Given the description of an element on the screen output the (x, y) to click on. 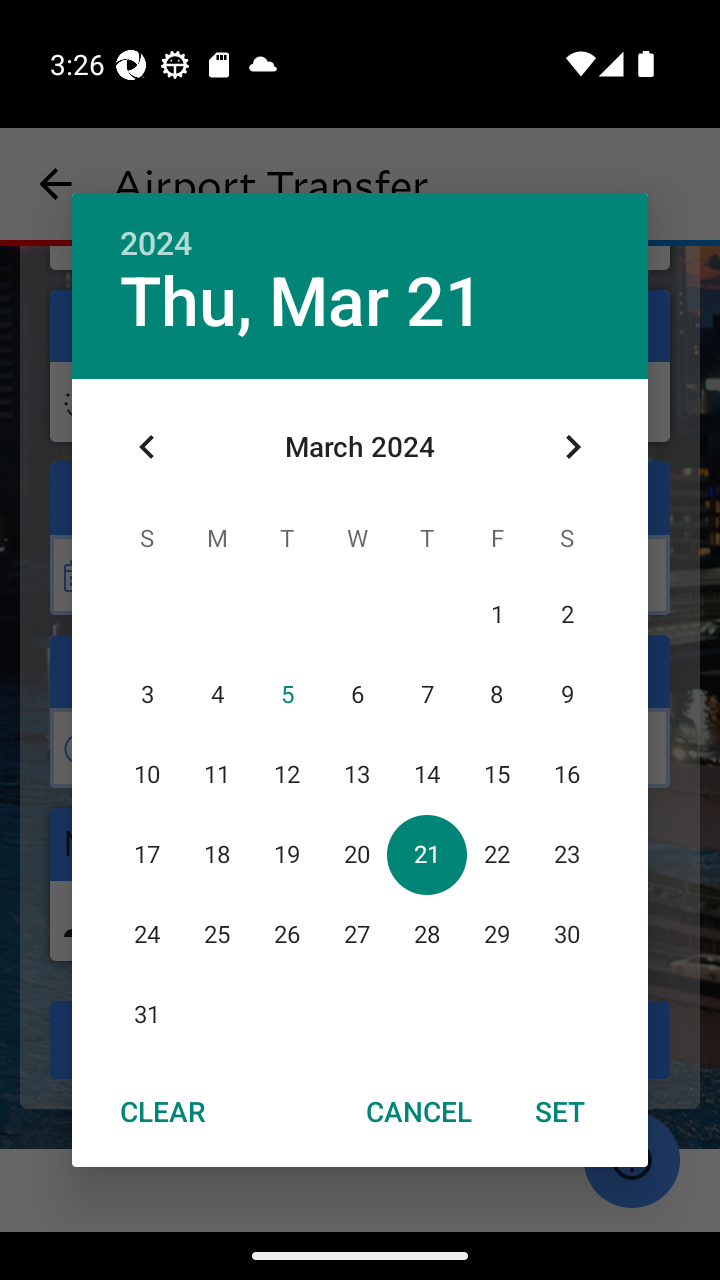
2024 (155, 243)
Thu, Mar 21 (301, 302)
Previous month (147, 447)
Next month (572, 447)
1 01 March 2024 (497, 614)
2 02 March 2024 (566, 614)
3 03 March 2024 (147, 694)
4 04 March 2024 (216, 694)
5 05 March 2024 (286, 694)
6 06 March 2024 (356, 694)
7 07 March 2024 (426, 694)
8 08 March 2024 (497, 694)
9 09 March 2024 (566, 694)
10 10 March 2024 (147, 774)
11 11 March 2024 (216, 774)
12 12 March 2024 (286, 774)
13 13 March 2024 (356, 774)
14 14 March 2024 (426, 774)
15 15 March 2024 (497, 774)
16 16 March 2024 (566, 774)
17 17 March 2024 (147, 854)
18 18 March 2024 (216, 854)
19 19 March 2024 (286, 854)
20 20 March 2024 (356, 854)
21 21 March 2024 (426, 854)
22 22 March 2024 (497, 854)
23 23 March 2024 (566, 854)
24 24 March 2024 (147, 934)
25 25 March 2024 (216, 934)
26 26 March 2024 (286, 934)
27 27 March 2024 (356, 934)
28 28 March 2024 (426, 934)
29 29 March 2024 (497, 934)
30 30 March 2024 (566, 934)
31 31 March 2024 (147, 1014)
CLEAR (162, 1110)
CANCEL (419, 1110)
SET (560, 1110)
